Given the description of an element on the screen output the (x, y) to click on. 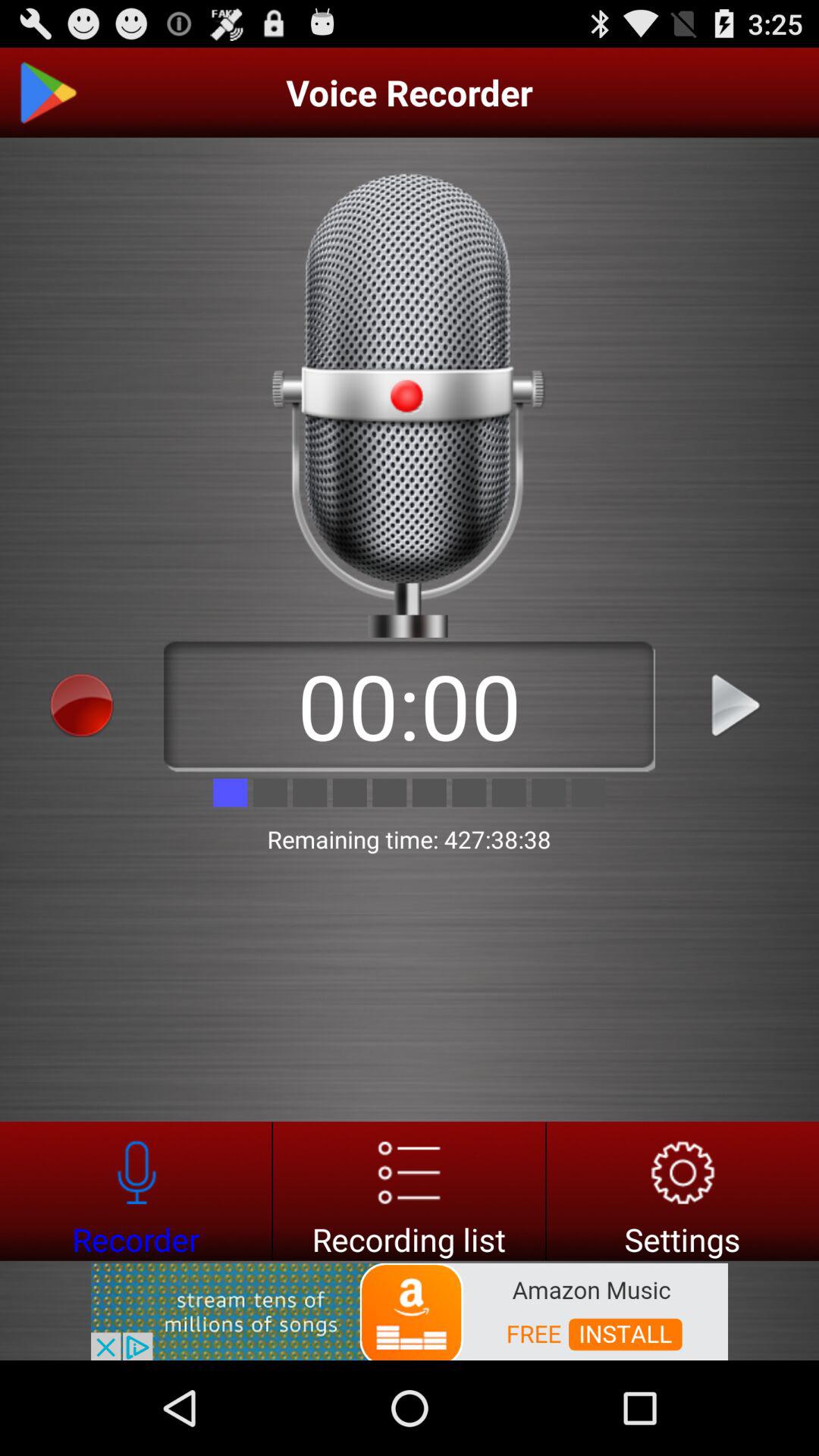
voice increase button (737, 705)
